Given the description of an element on the screen output the (x, y) to click on. 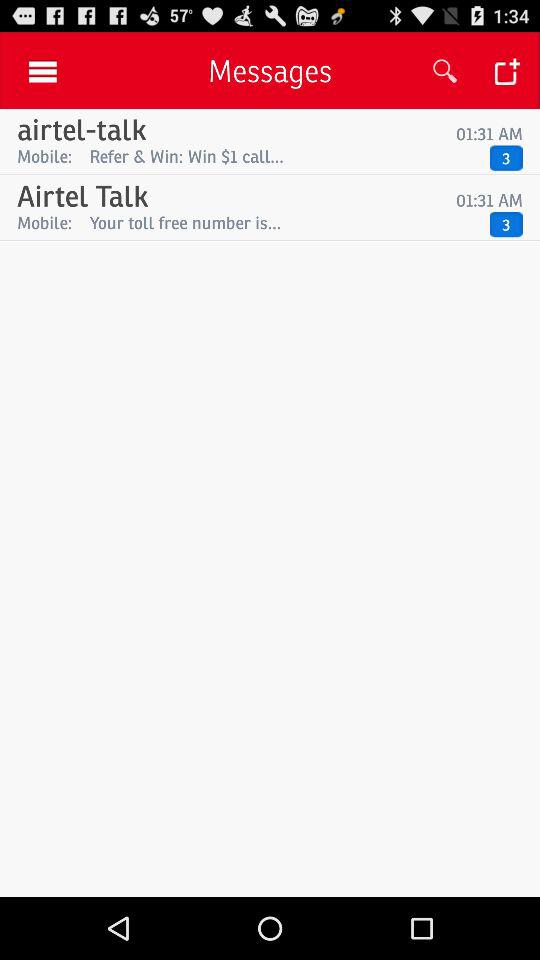
press icon next to 3 item (284, 156)
